Given the description of an element on the screen output the (x, y) to click on. 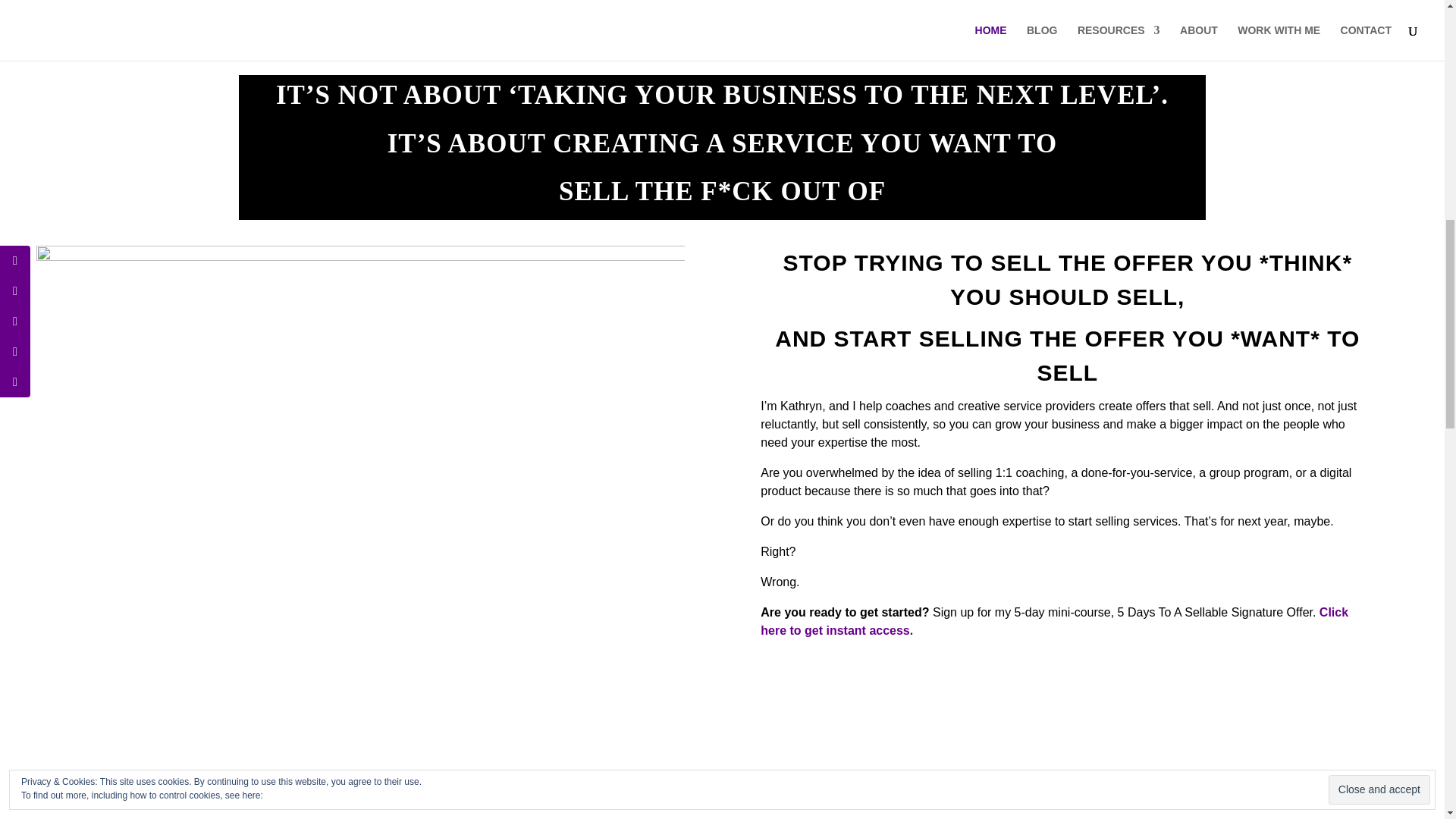
Click here to get instant access. (1054, 621)
